Given the description of an element on the screen output the (x, y) to click on. 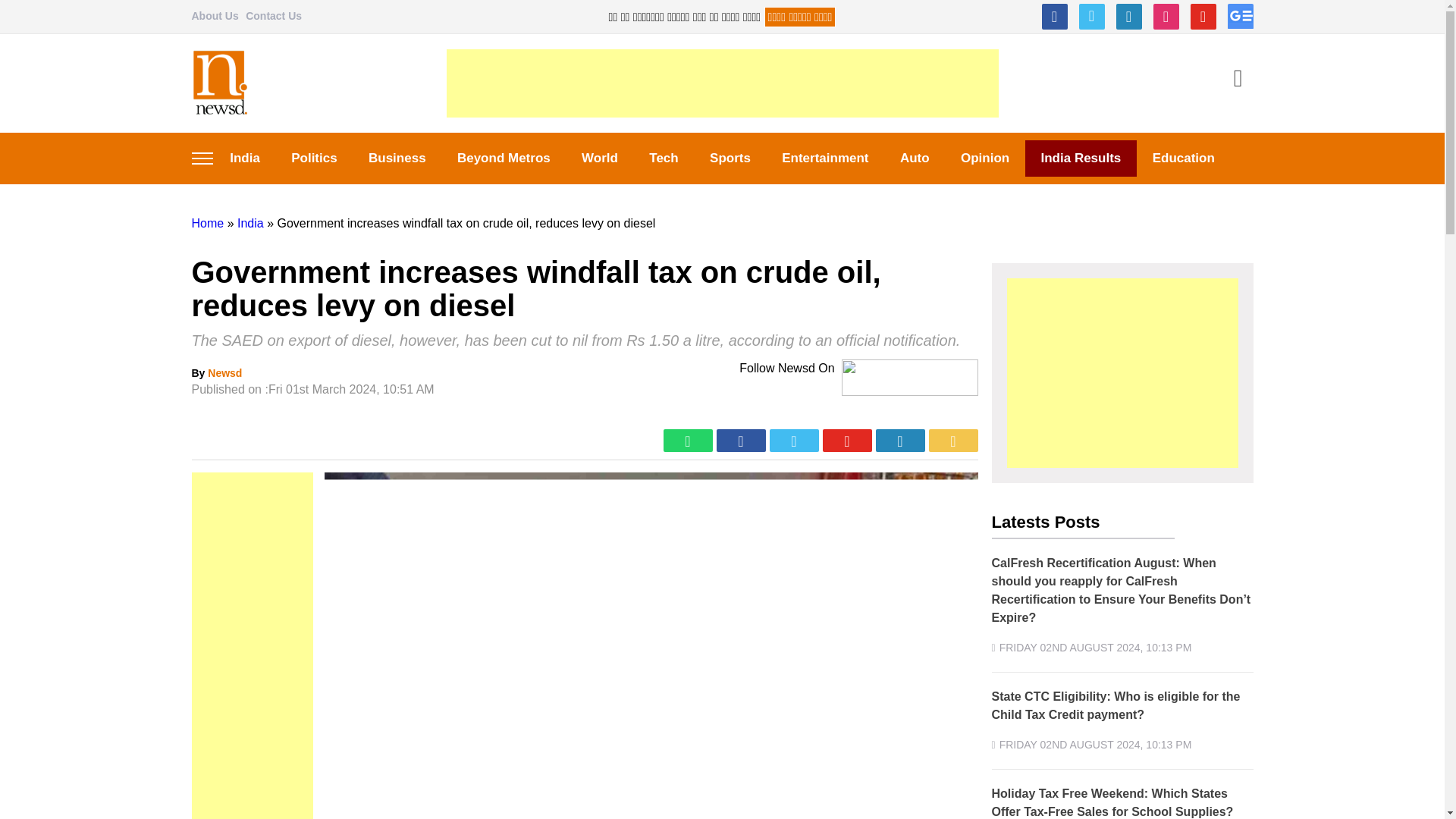
World (599, 158)
Sports (729, 158)
Business (396, 158)
Home (207, 223)
Linkedin (1128, 16)
Youtube (1203, 16)
Entertainment (826, 158)
Politics (314, 158)
Tech (663, 158)
Entertainment (826, 158)
Advertisement (721, 83)
Opinion (984, 158)
India (244, 158)
Auto (913, 158)
Sports (729, 158)
